Given the description of an element on the screen output the (x, y) to click on. 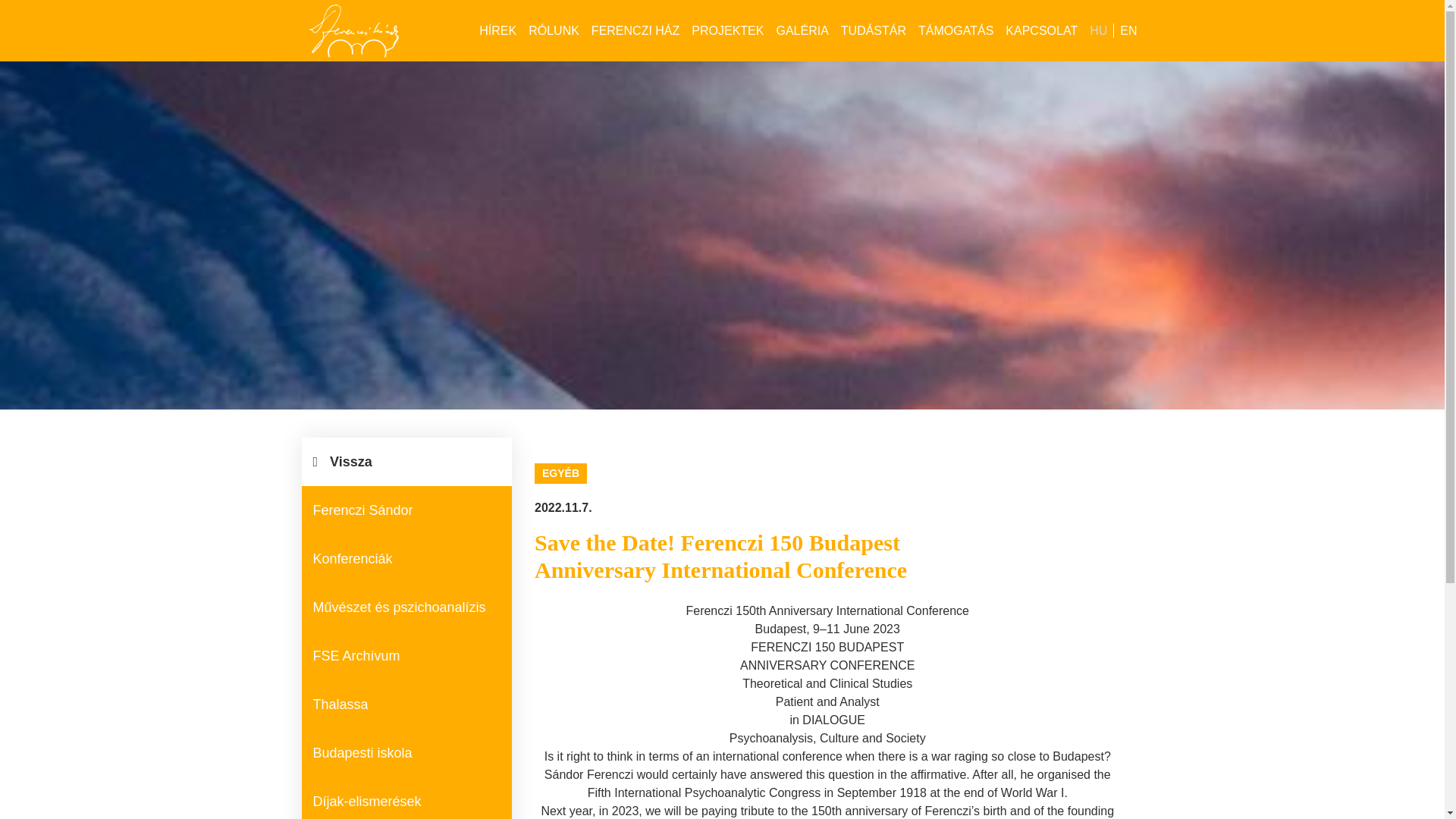
HU (1098, 30)
KAPCSOLAT (1040, 30)
EN (1127, 30)
PROJEKTEK (727, 30)
